Given the description of an element on the screen output the (x, y) to click on. 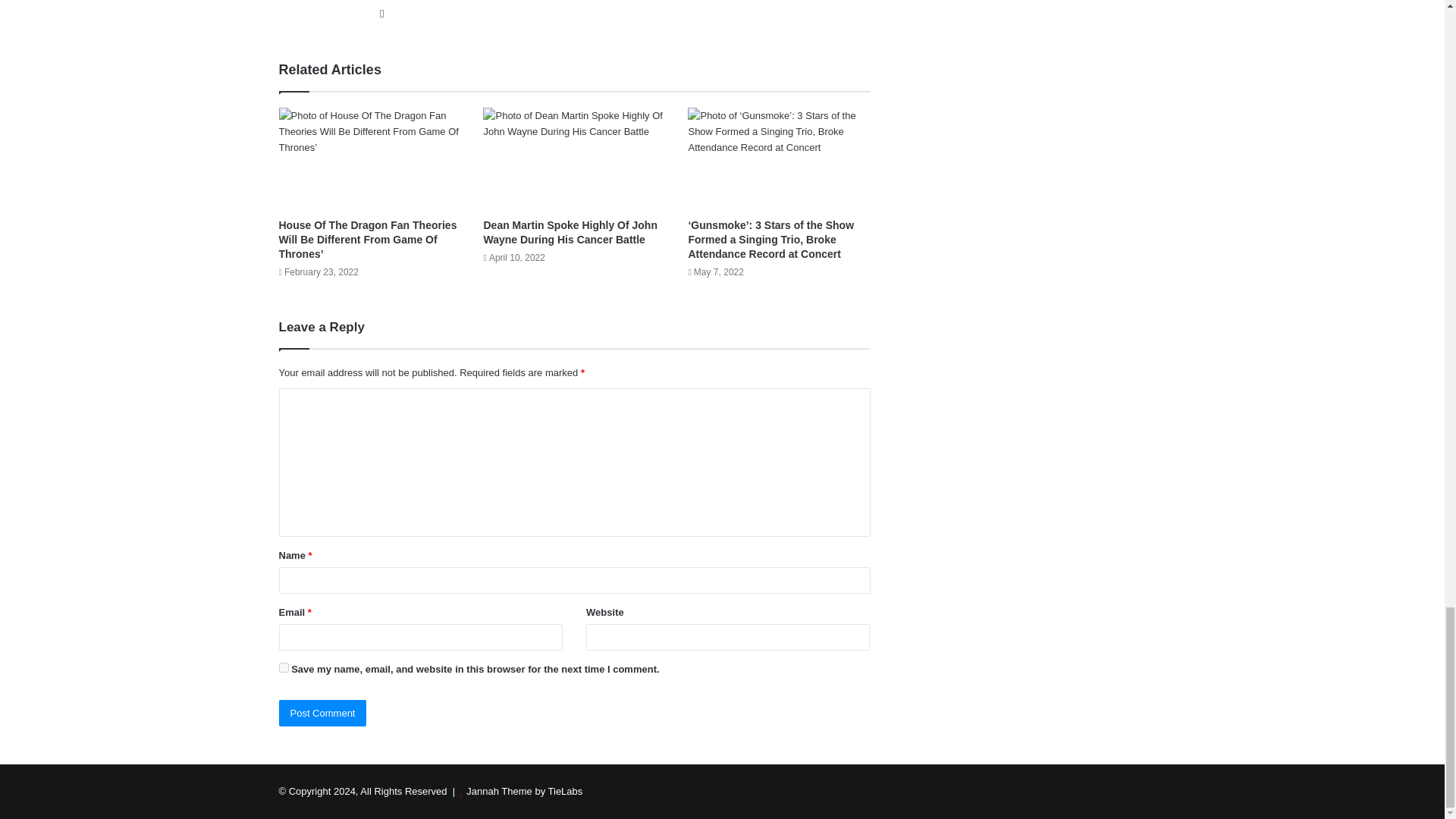
Website (381, 13)
Post Comment (322, 713)
yes (283, 667)
